Given the description of an element on the screen output the (x, y) to click on. 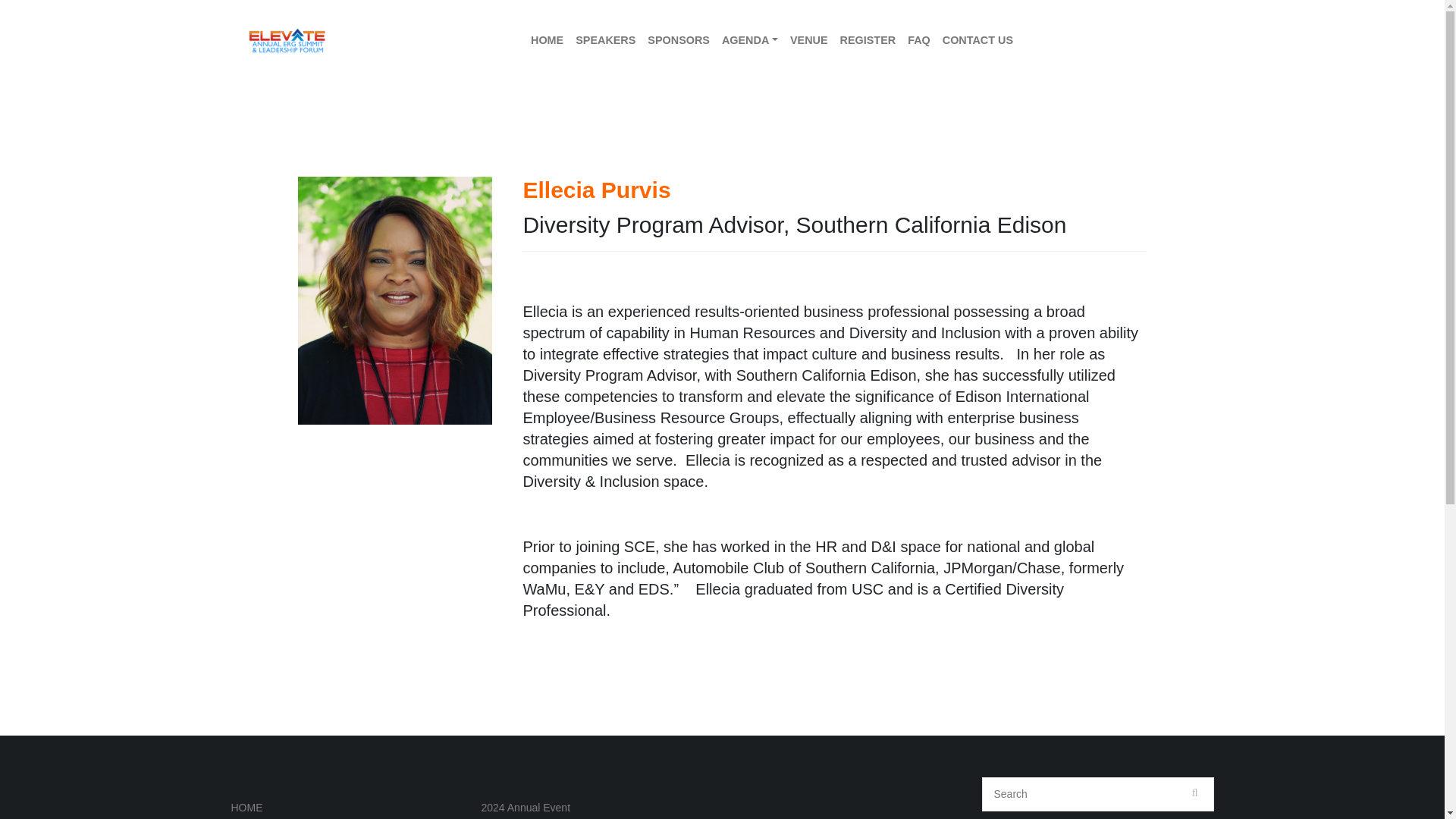
SPEAKERS (605, 40)
CONTACT US (977, 40)
HOME (546, 40)
AGENDA (750, 40)
REGISTER (868, 40)
SPONSORS (679, 40)
HOME (246, 807)
2024 Annual Event (525, 807)
FAQ (918, 40)
VENUE (809, 40)
